Given the description of an element on the screen output the (x, y) to click on. 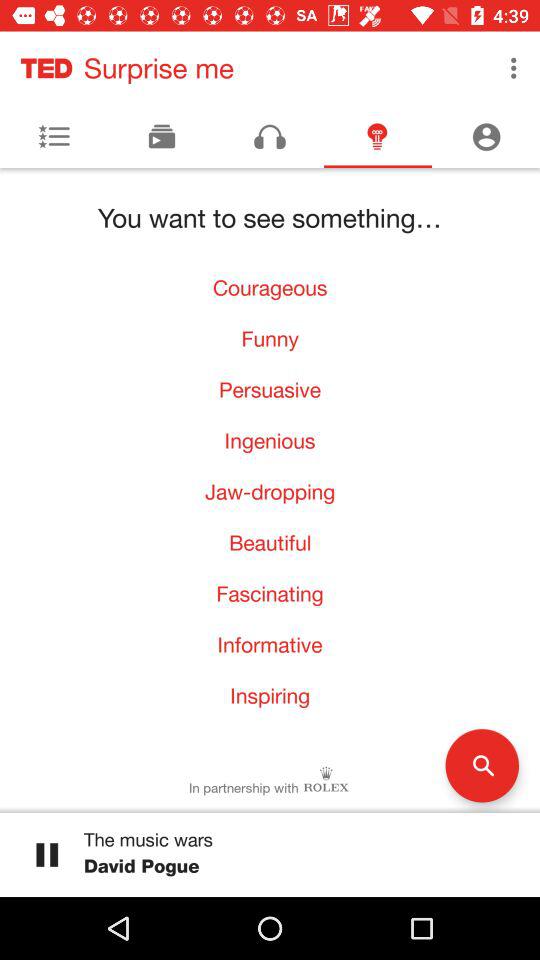
turn off the item above ingenious item (270, 389)
